Given the description of an element on the screen output the (x, y) to click on. 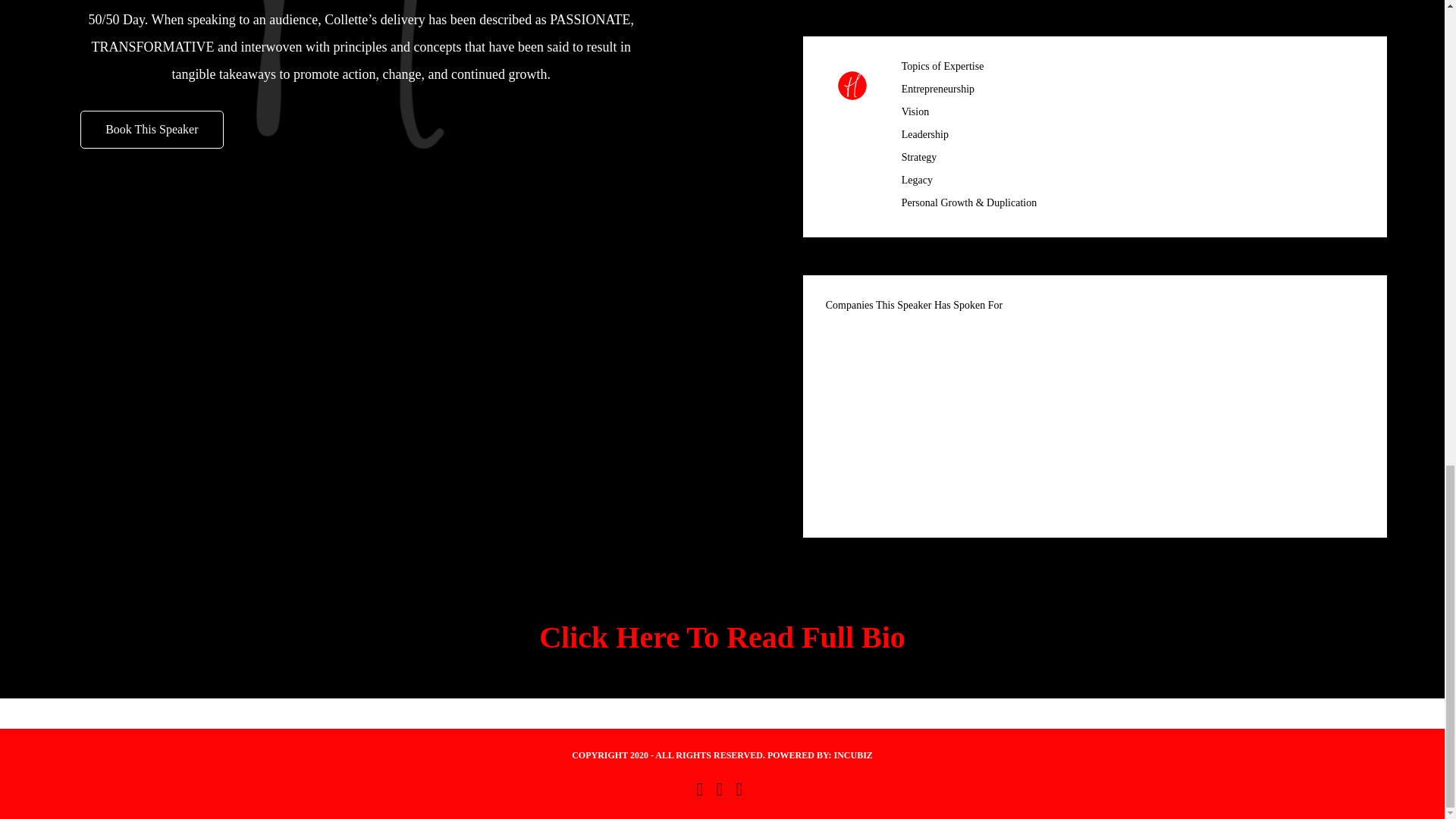
INCUBIZ (852, 755)
Book This Speaker (151, 129)
Click Here To Read Full Bio (722, 637)
